Given the description of an element on the screen output the (x, y) to click on. 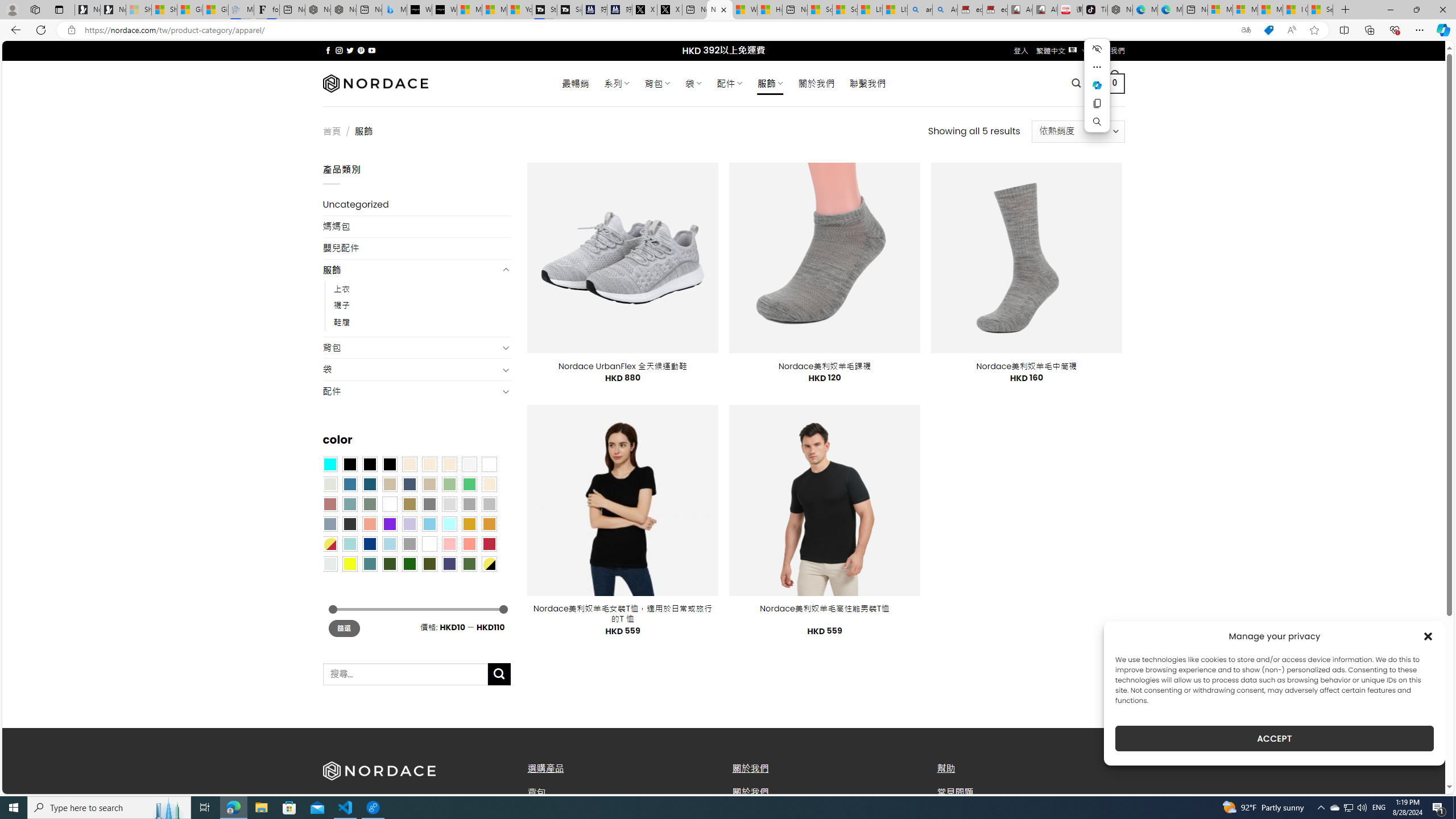
Newsletter Sign Up (113, 9)
  0   (1115, 83)
Dull Nickle (329, 563)
Close (1442, 9)
Nordace - #1 Japanese Best-Seller - Siena Smart Backpack (343, 9)
